Given the description of an element on the screen output the (x, y) to click on. 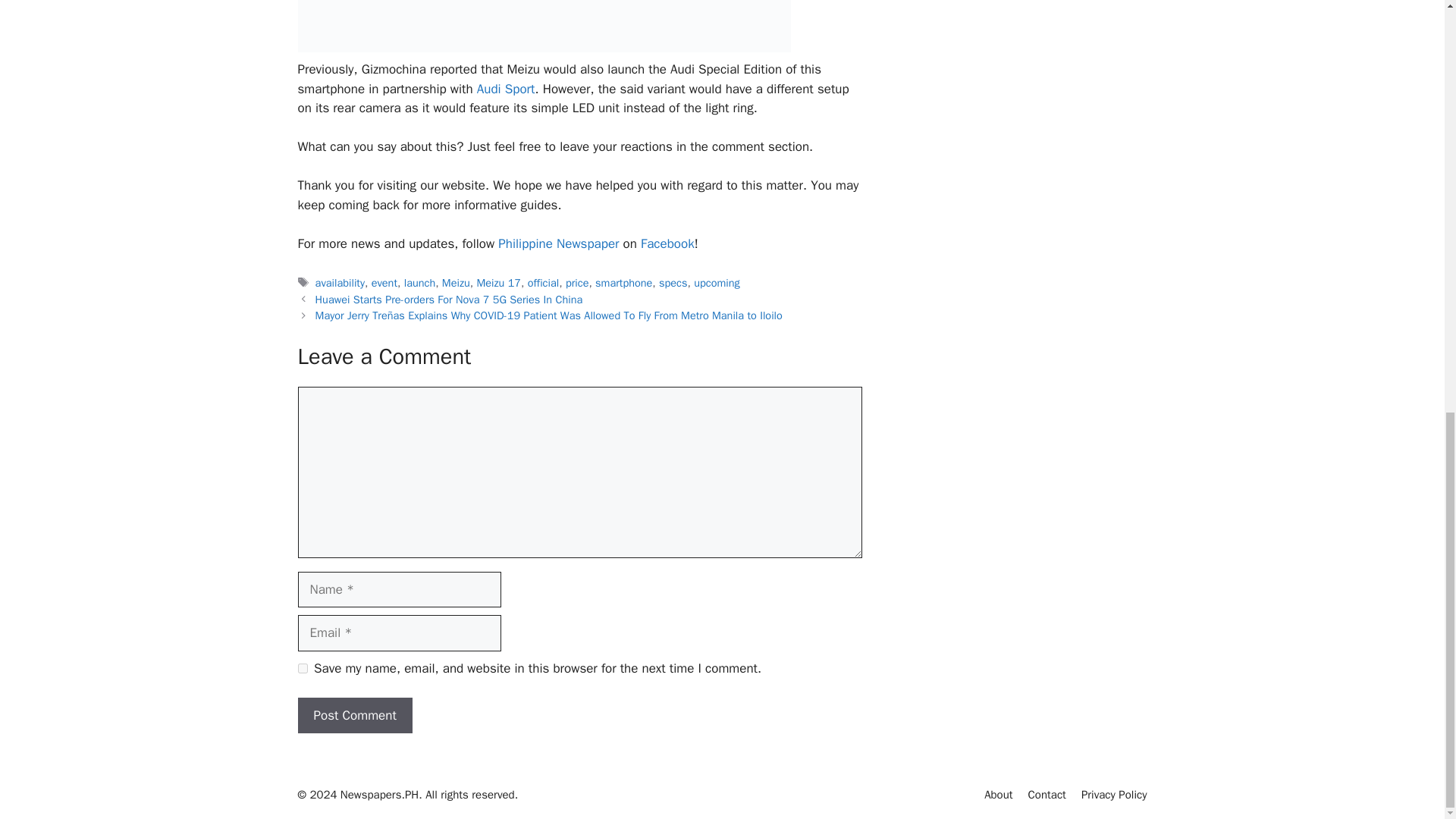
Post Comment (354, 715)
yes (302, 668)
